Given the description of an element on the screen output the (x, y) to click on. 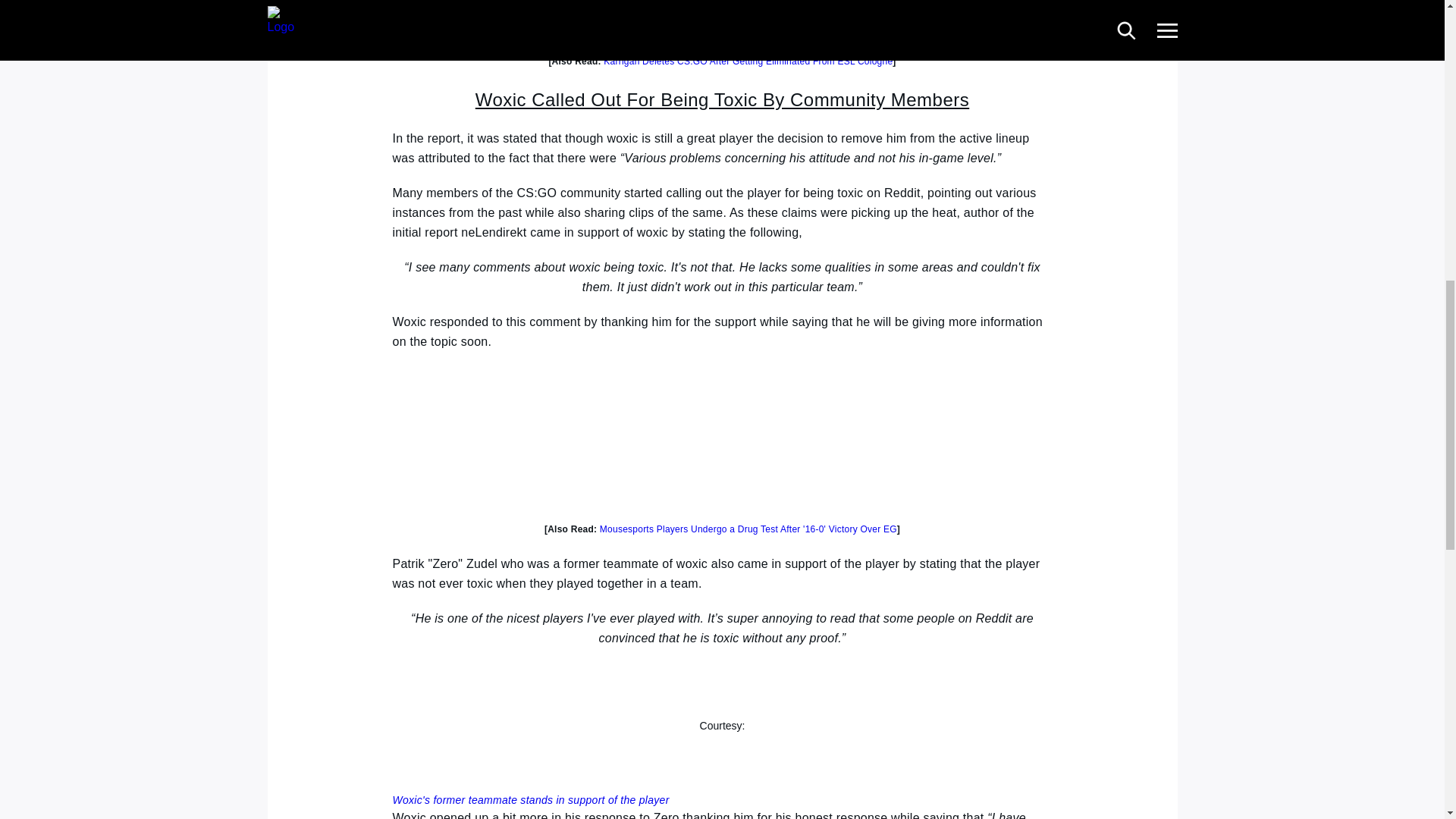
Woxic's former teammate stands in support of the player (531, 799)
